Given the description of an element on the screen output the (x, y) to click on. 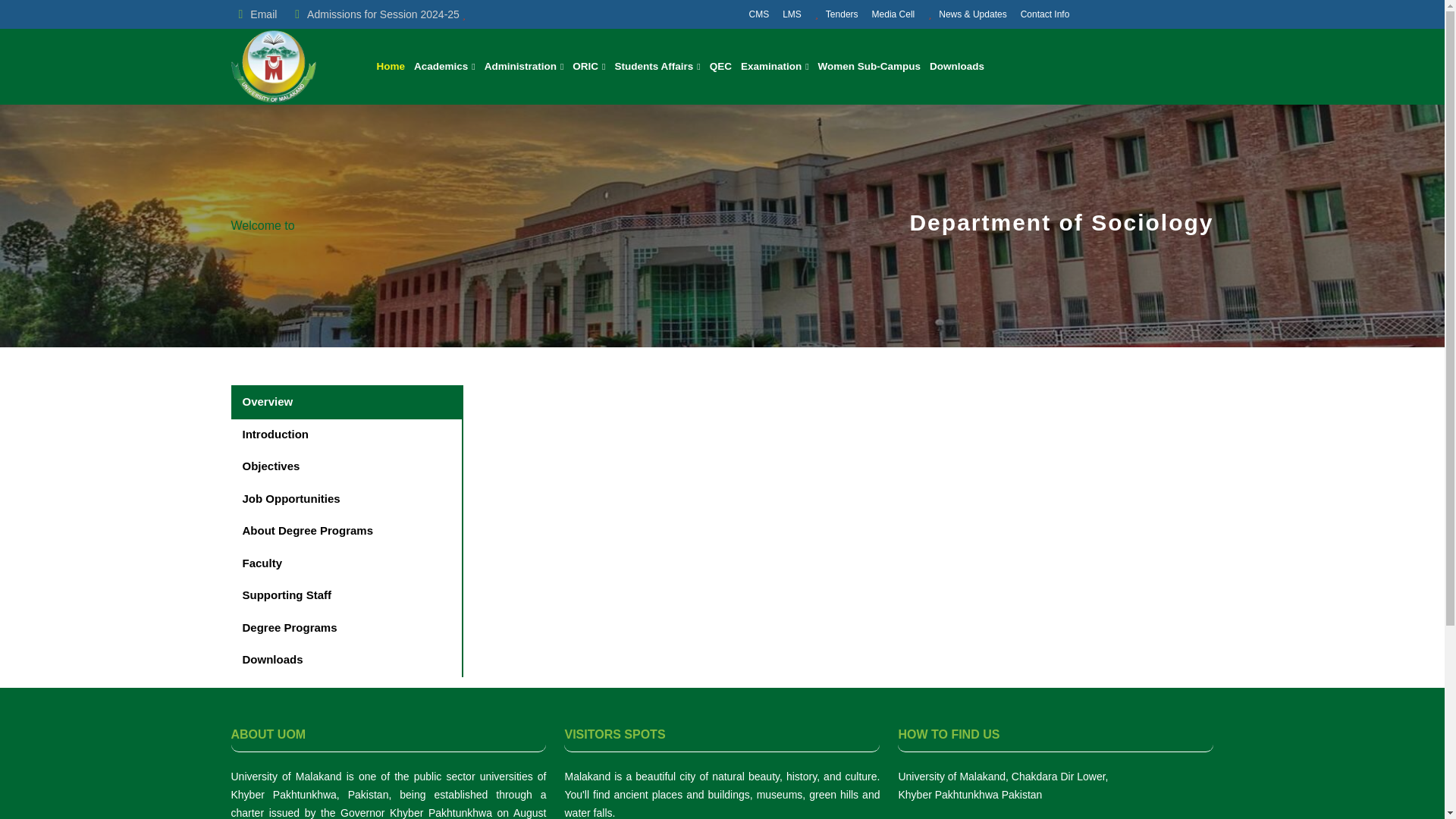
Email (257, 13)
Tenders (830, 14)
Academics (440, 66)
Media Cell (887, 14)
LMS (785, 14)
LMS (785, 14)
Tenders (830, 14)
Contact Info (1038, 14)
Contact Info (1038, 14)
Home (385, 66)
